Given the description of an element on the screen output the (x, y) to click on. 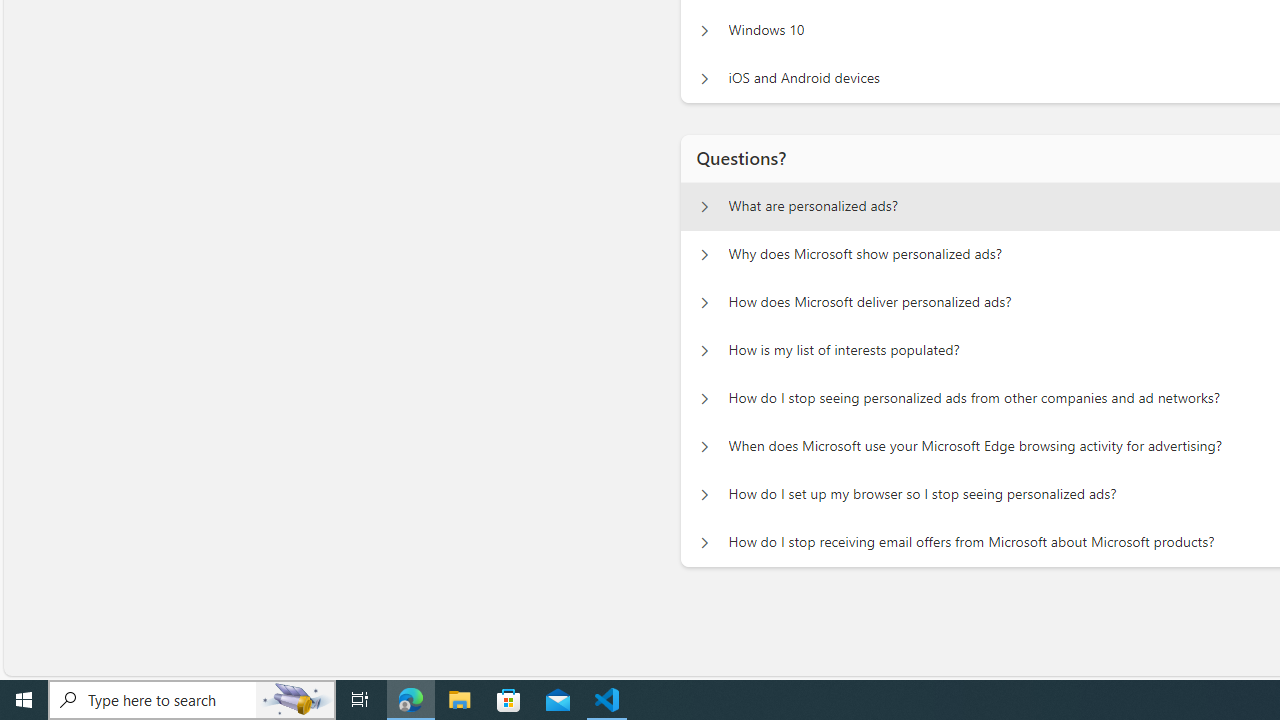
Questions? Why does Microsoft show personalized ads? (704, 255)
Manage personalized ads on your device Windows 10 (704, 30)
Questions? How is my list of interests populated? (704, 350)
Questions? What are personalized ads? (704, 206)
Questions? How does Microsoft deliver personalized ads? (704, 302)
